Given the description of an element on the screen output the (x, y) to click on. 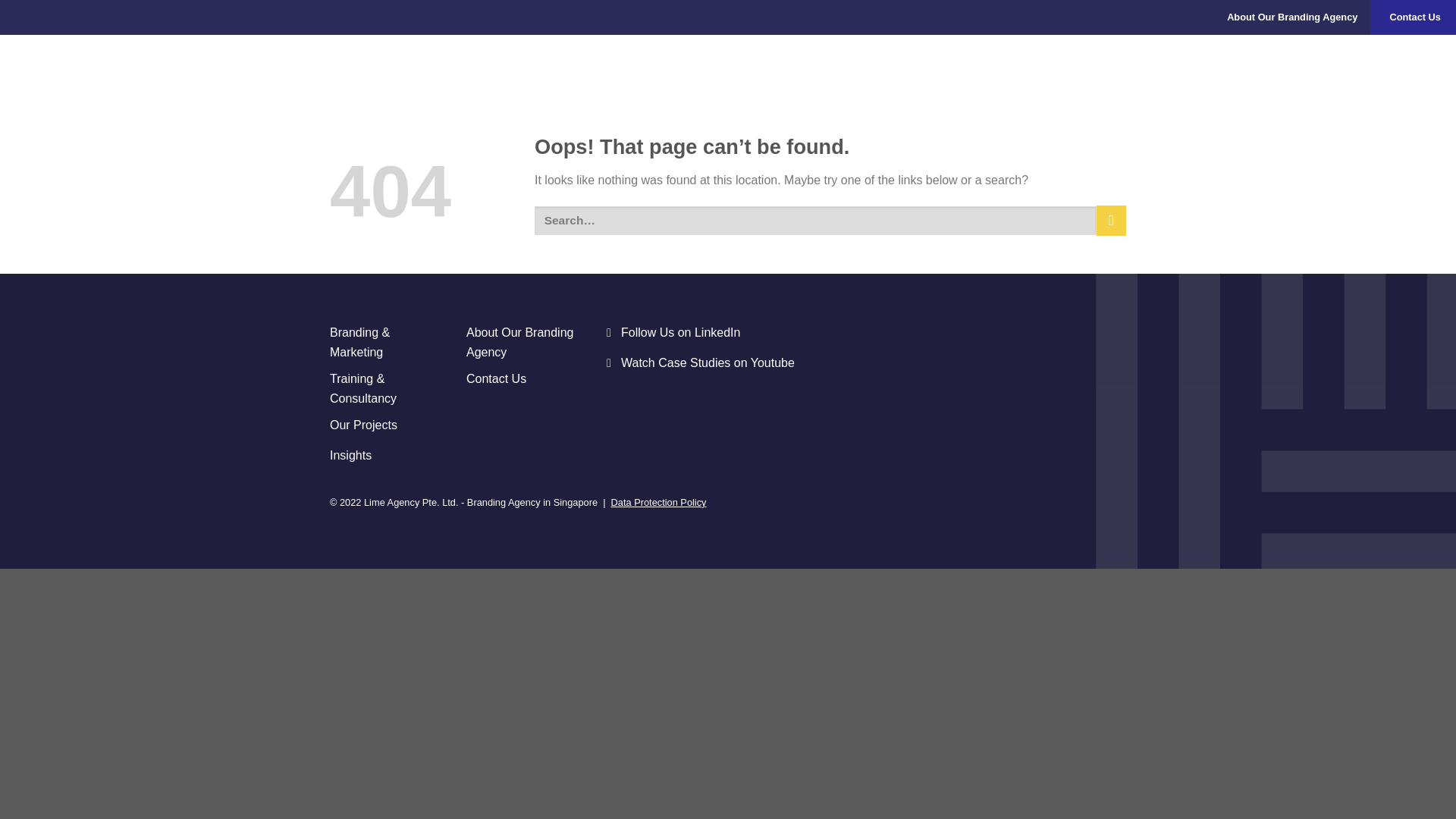
Our Projects (387, 426)
Contact Us (1415, 17)
Contact Us (522, 380)
Insights (1423, 61)
About Our Branding Agency (1291, 17)
Follow Us on LinkedIn (727, 334)
Our Projects (1356, 61)
Data Protection Policy (658, 501)
Insights (387, 457)
About Our Branding Agency (522, 342)
